Given the description of an element on the screen output the (x, y) to click on. 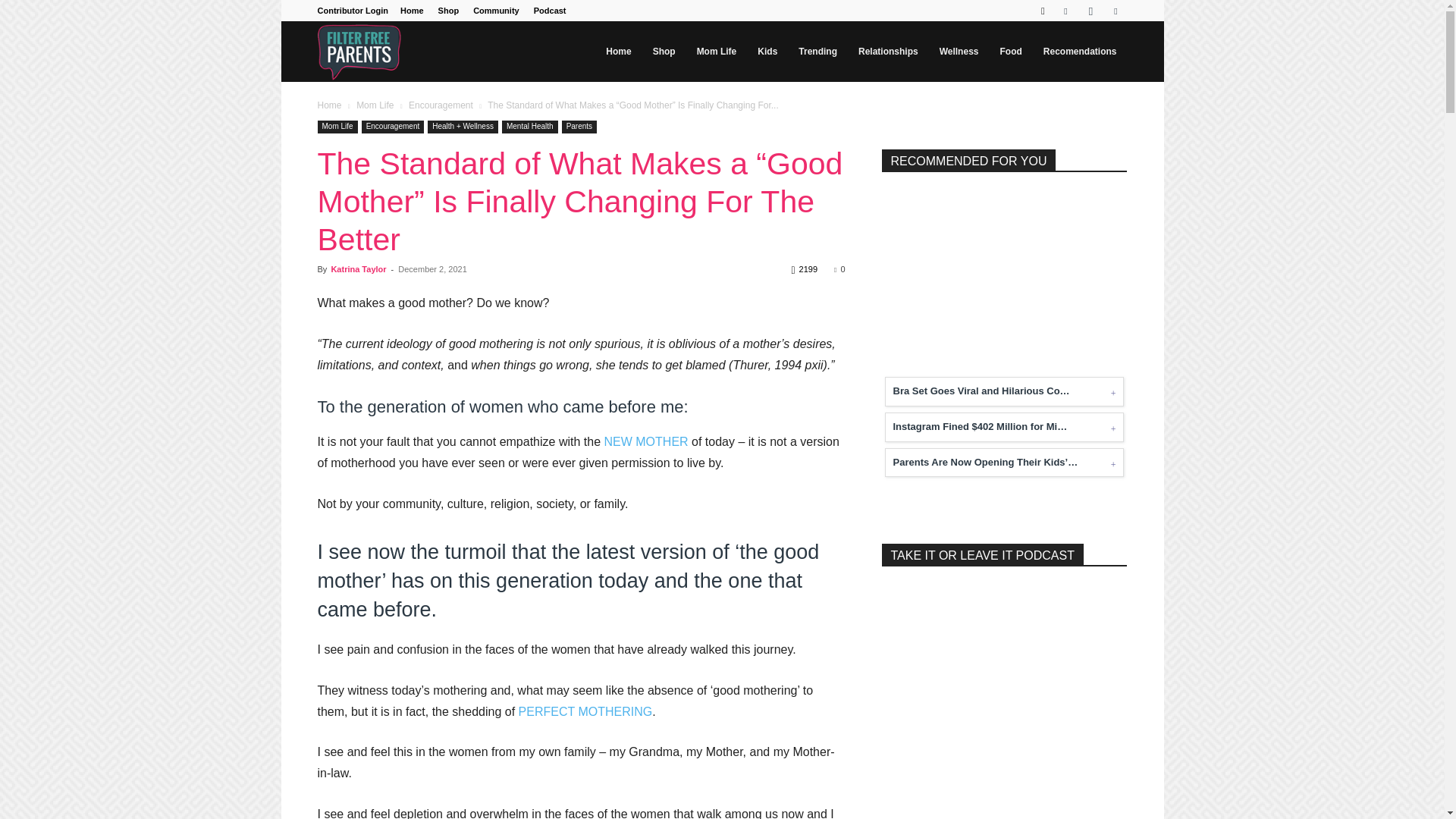
Pinterest (1114, 10)
Contributor Login (352, 10)
Instagram (1090, 10)
Home (411, 10)
Facebook (1065, 10)
